Given the description of an element on the screen output the (x, y) to click on. 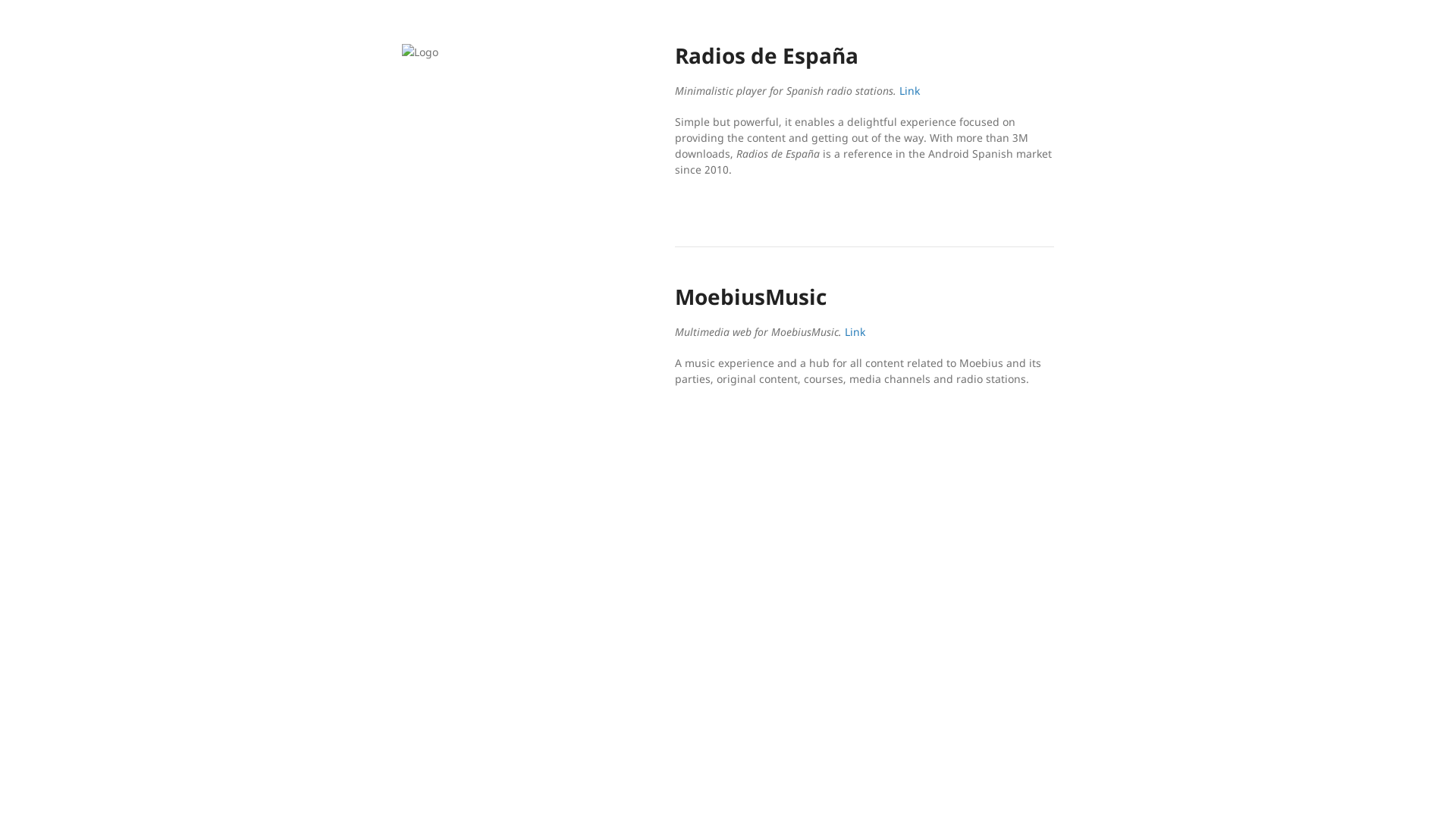
Link Element type: text (854, 331)
Link Element type: text (909, 90)
